Given the description of an element on the screen output the (x, y) to click on. 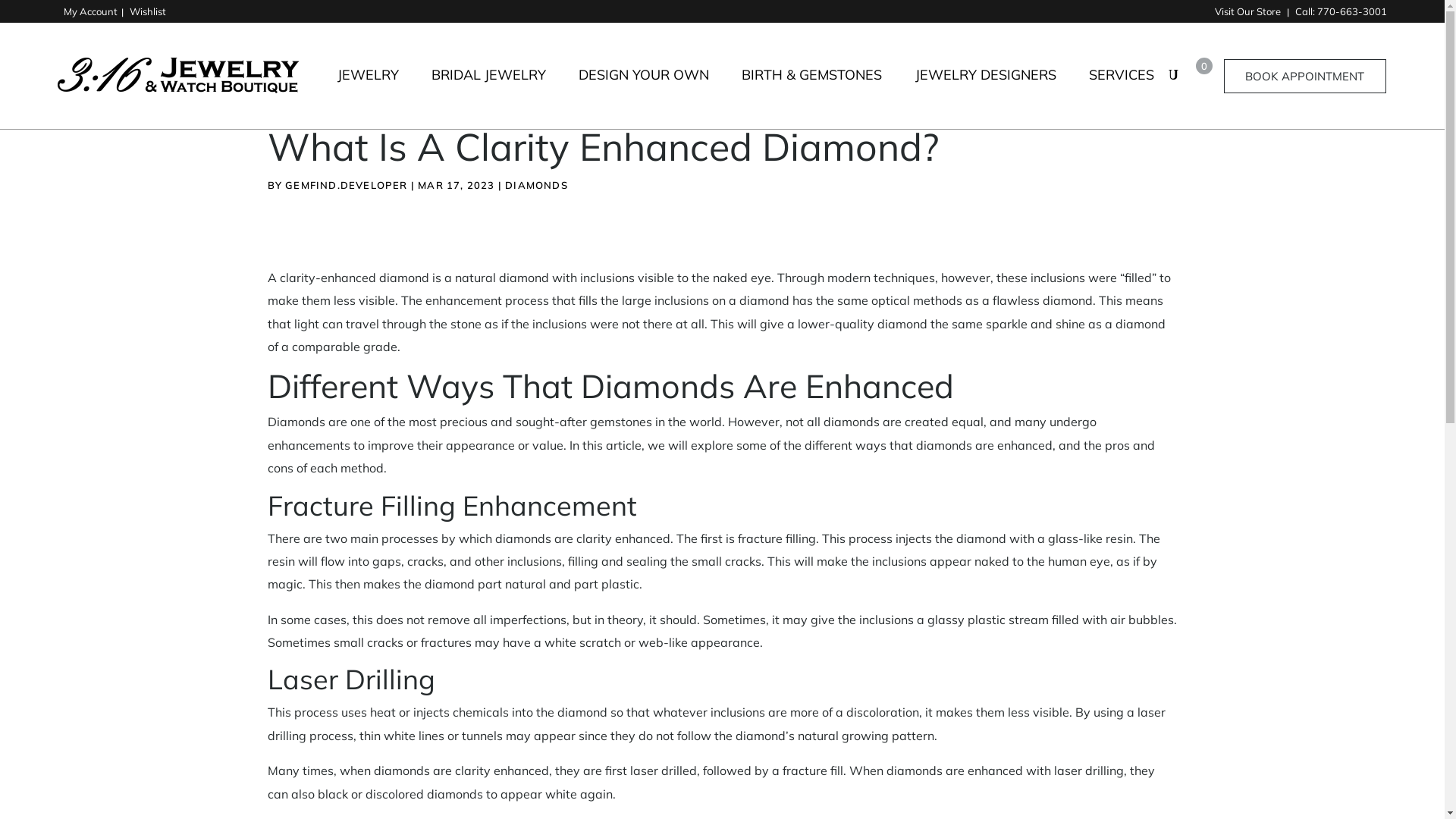
JEWELRY DESIGNERS Element type: text (985, 86)
JEWELRY Element type: text (367, 86)
My Account Element type: text (90, 11)
DESIGN YOUR OWN Element type: text (643, 86)
GEMFIND.DEVELOPER Element type: text (346, 184)
BRIDAL JEWELRY Element type: text (488, 86)
BIRTH & GEMSTONES Element type: text (811, 86)
Call: 770-663-3001 Element type: text (1340, 11)
0 Element type: text (1194, 75)
SERVICES Element type: text (1121, 86)
BOOK APPOINTMENT Element type: text (1304, 76)
Wishlist Element type: text (147, 11)
DIAMONDS Element type: text (536, 184)
Visit Our Store Element type: text (1248, 11)
